Given the description of an element on the screen output the (x, y) to click on. 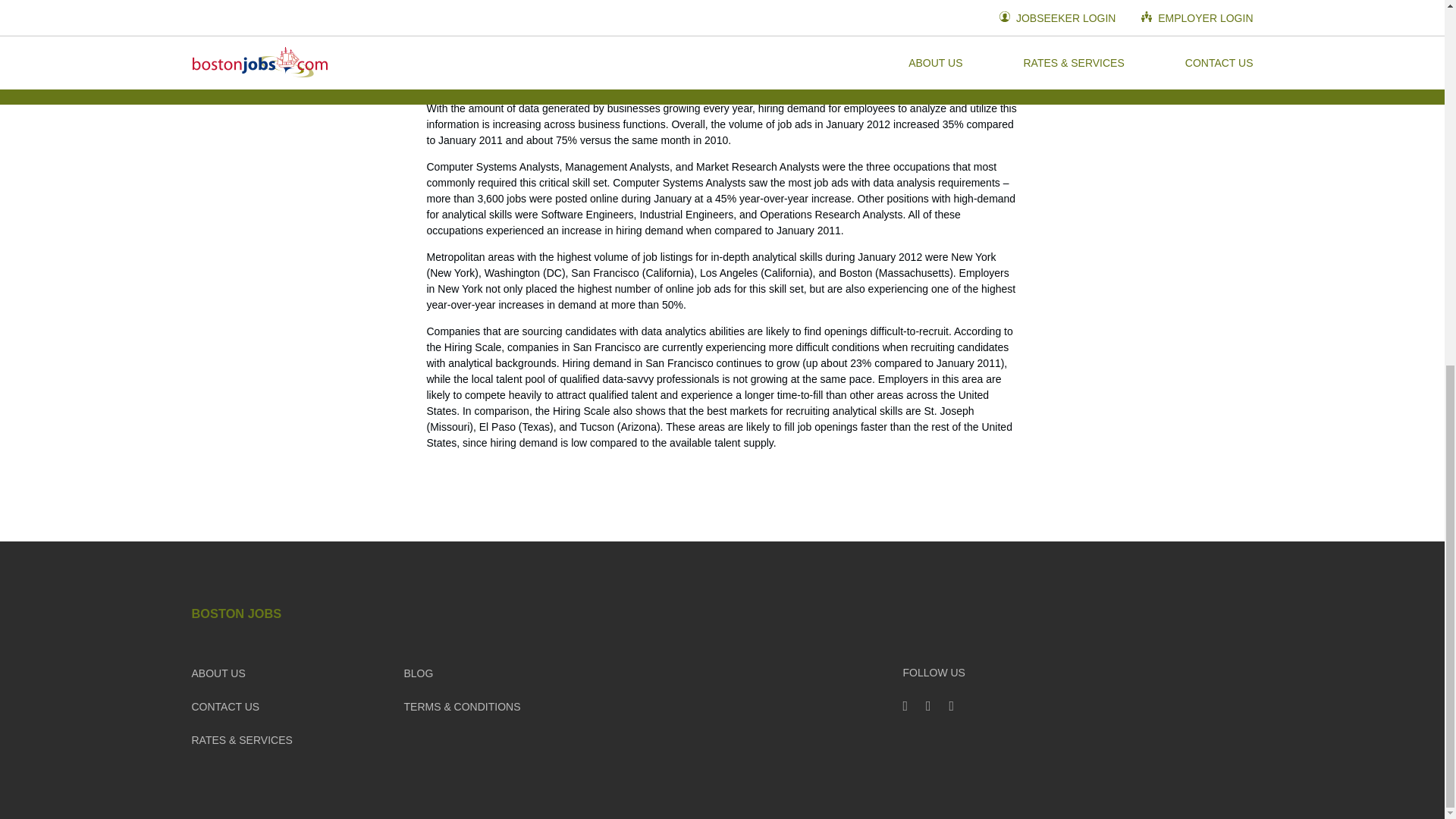
ABOUT US (217, 673)
BLOG (417, 673)
Boston IT jobs (743, 39)
CONTACT US (224, 706)
